Given the description of an element on the screen output the (x, y) to click on. 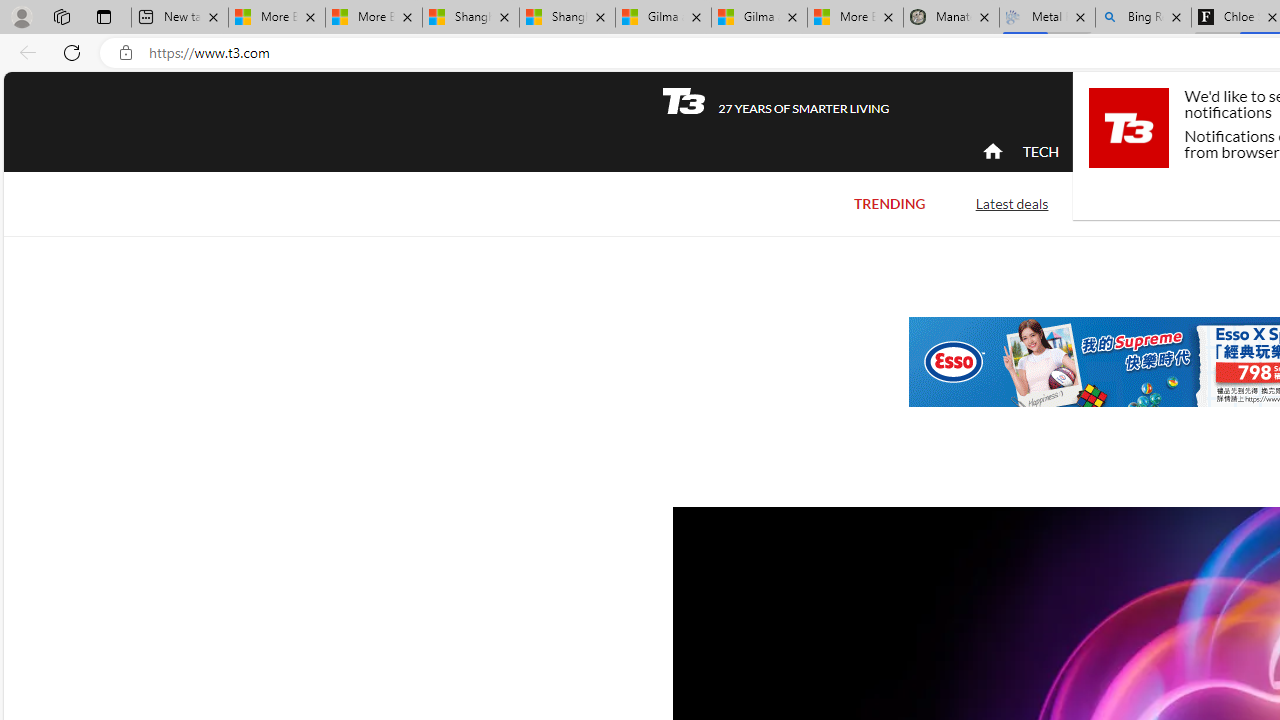
home (992, 152)
